Given the description of an element on the screen output the (x, y) to click on. 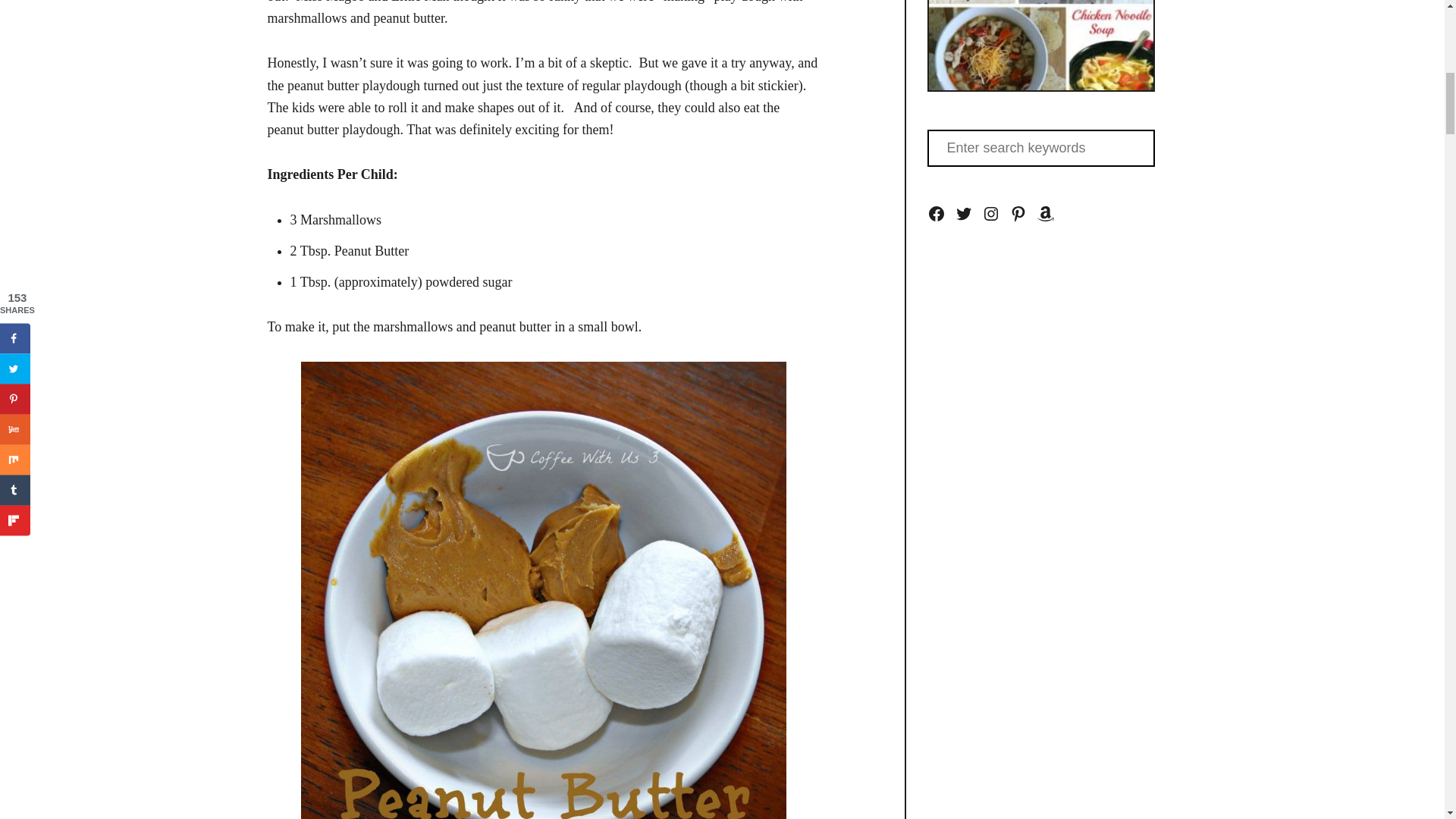
Search for: (1040, 148)
